Given the description of an element on the screen output the (x, y) to click on. 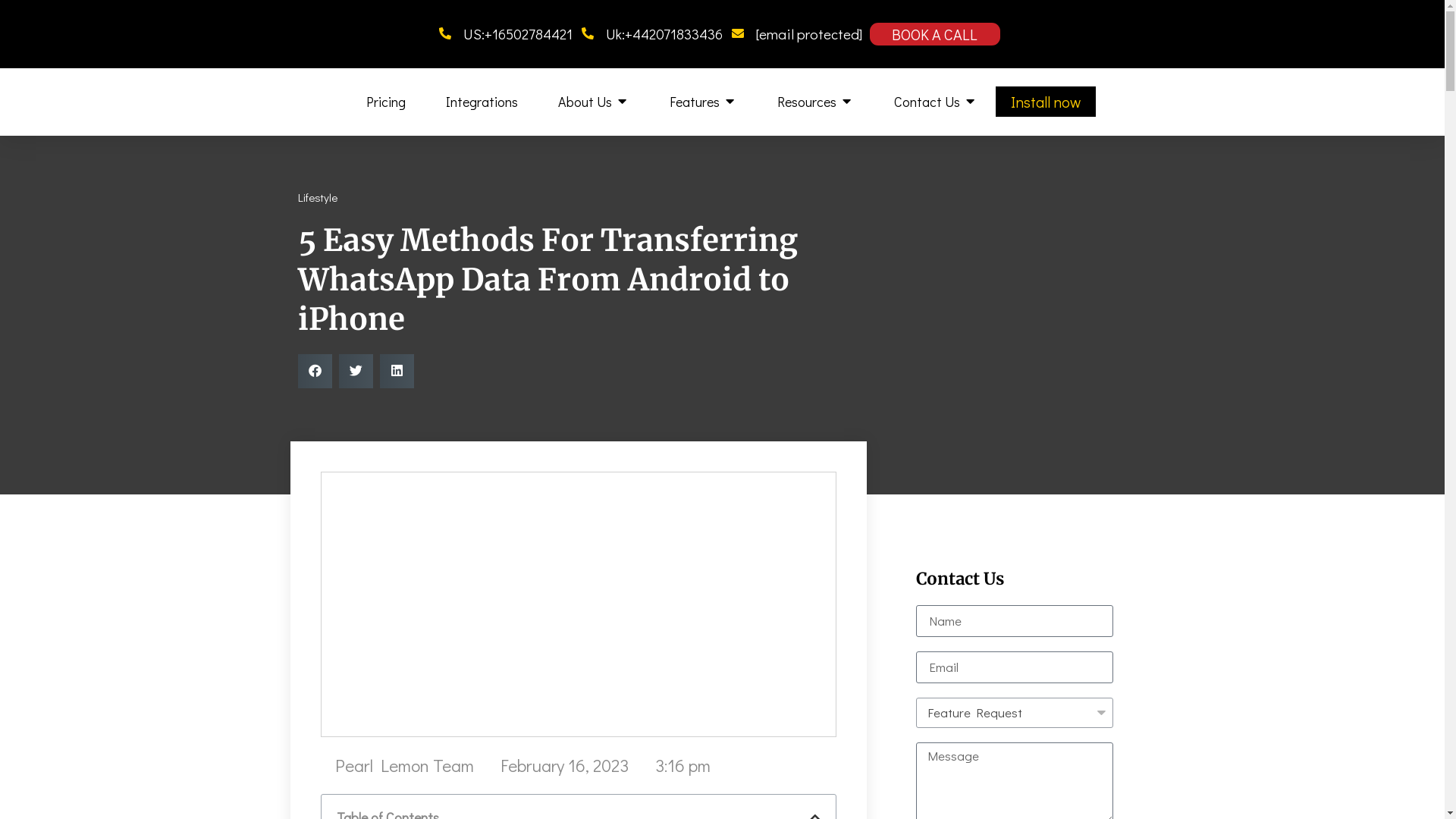
A yellow and grey logo with a yellow and grey speech bubble. (312, 101)
Pricing (384, 101)
February 16, 2023 (555, 765)
Features (693, 101)
Lifestyle (316, 196)
Contact Us (926, 101)
Pearl Lemon Team (396, 765)
Install now (1044, 101)
Resources (805, 101)
BOOK A CALL (933, 33)
